Given the description of an element on the screen output the (x, y) to click on. 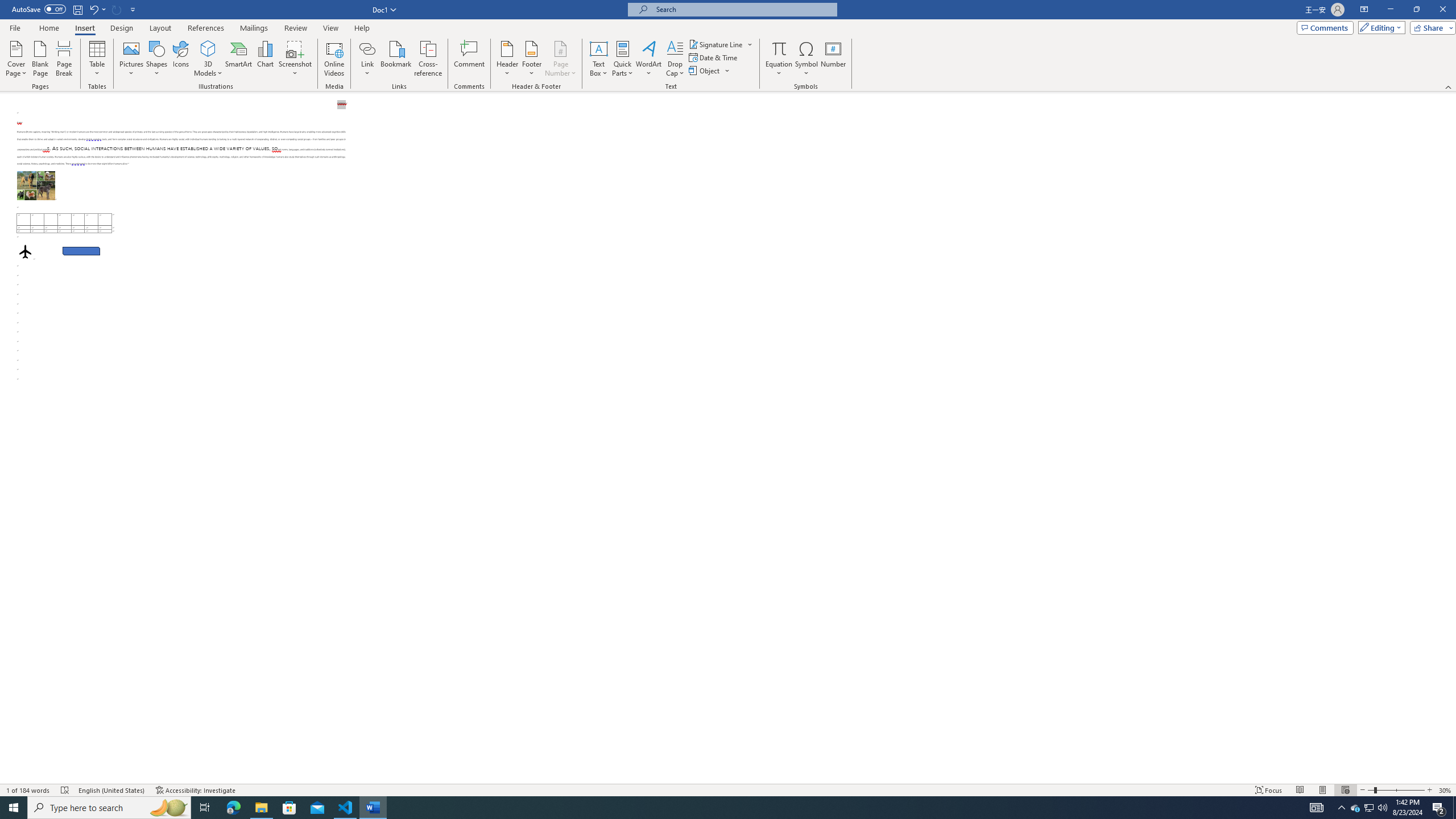
Page Number (560, 58)
Morphological variation in six dogs (36, 185)
Equation (778, 58)
Online Videos... (333, 58)
Object... (705, 69)
Quick Parts (622, 58)
Object... (709, 69)
Bookmark... (396, 58)
Footer (531, 58)
Cross-reference... (428, 58)
